Given the description of an element on the screen output the (x, y) to click on. 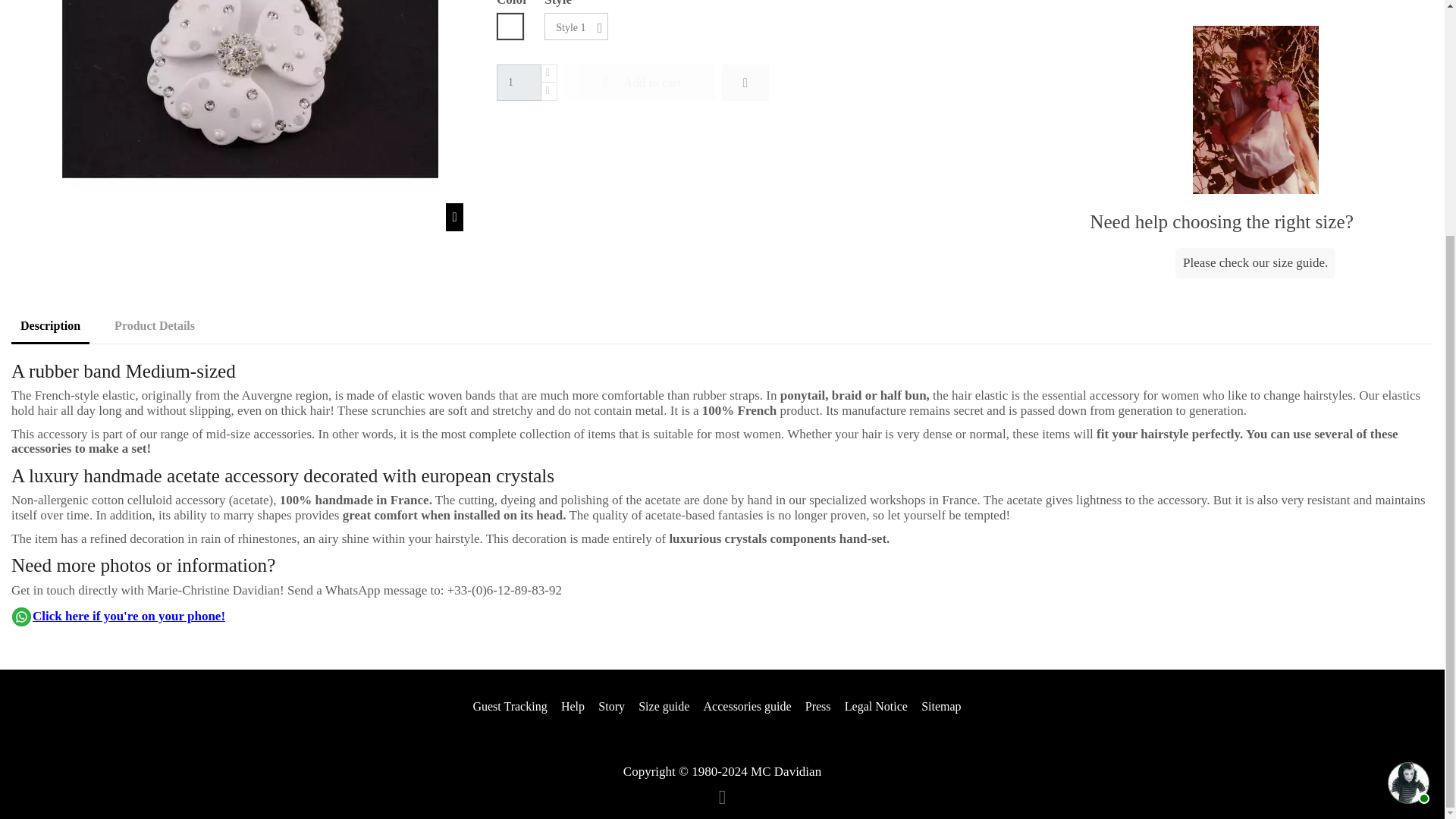
1 (518, 82)
